Given the description of an element on the screen output the (x, y) to click on. 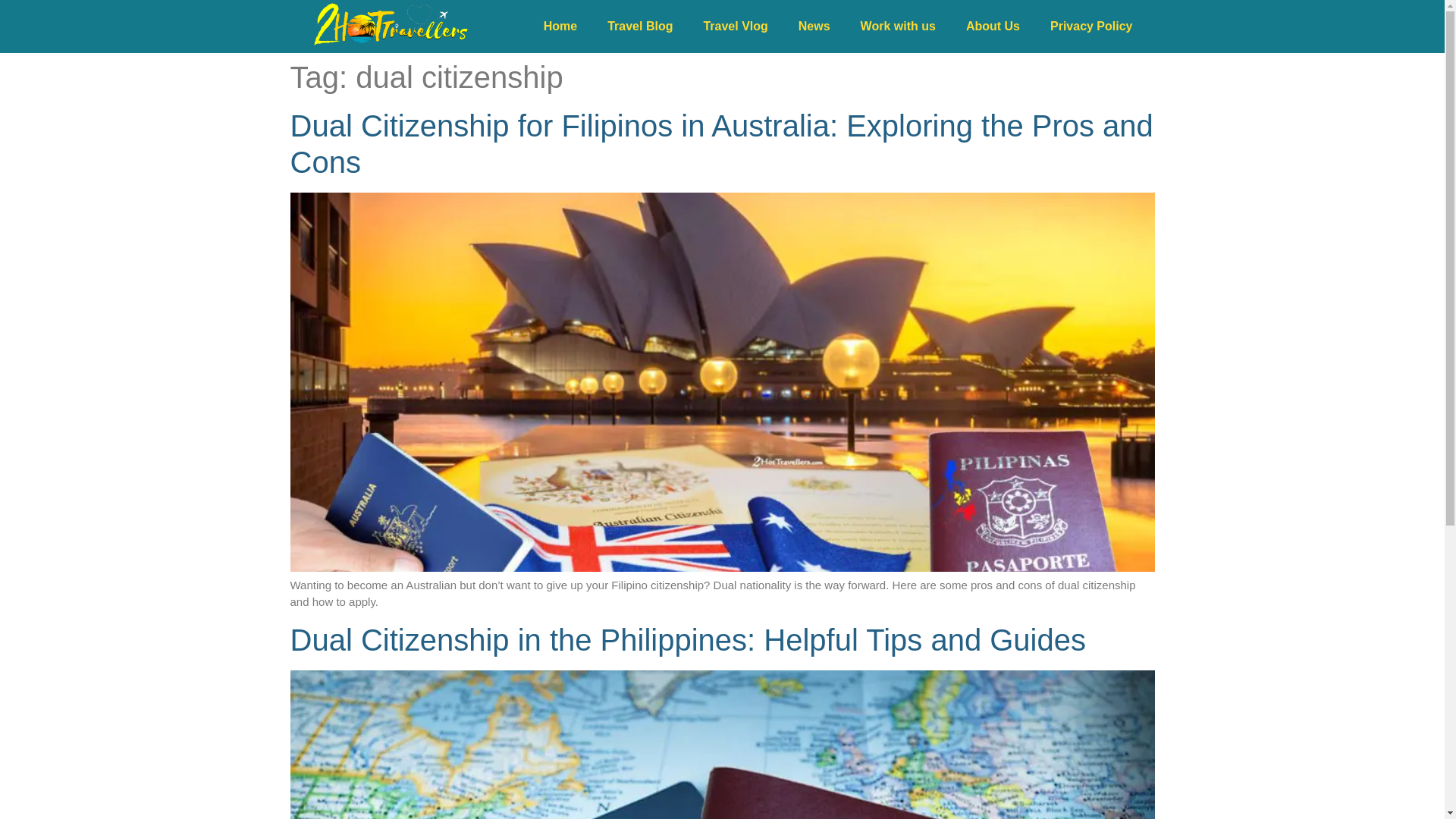
Privacy Policy (1090, 26)
Dual Citizenship in the Philippines: Helpful Tips and Guides (721, 744)
Dual Citizenship in the Philippines: Helpful Tips and Guides (686, 639)
Home (559, 26)
Work with us (898, 26)
News (813, 26)
About Us (993, 26)
Travel Blog (639, 26)
Travel Vlog (735, 26)
